Given the description of an element on the screen output the (x, y) to click on. 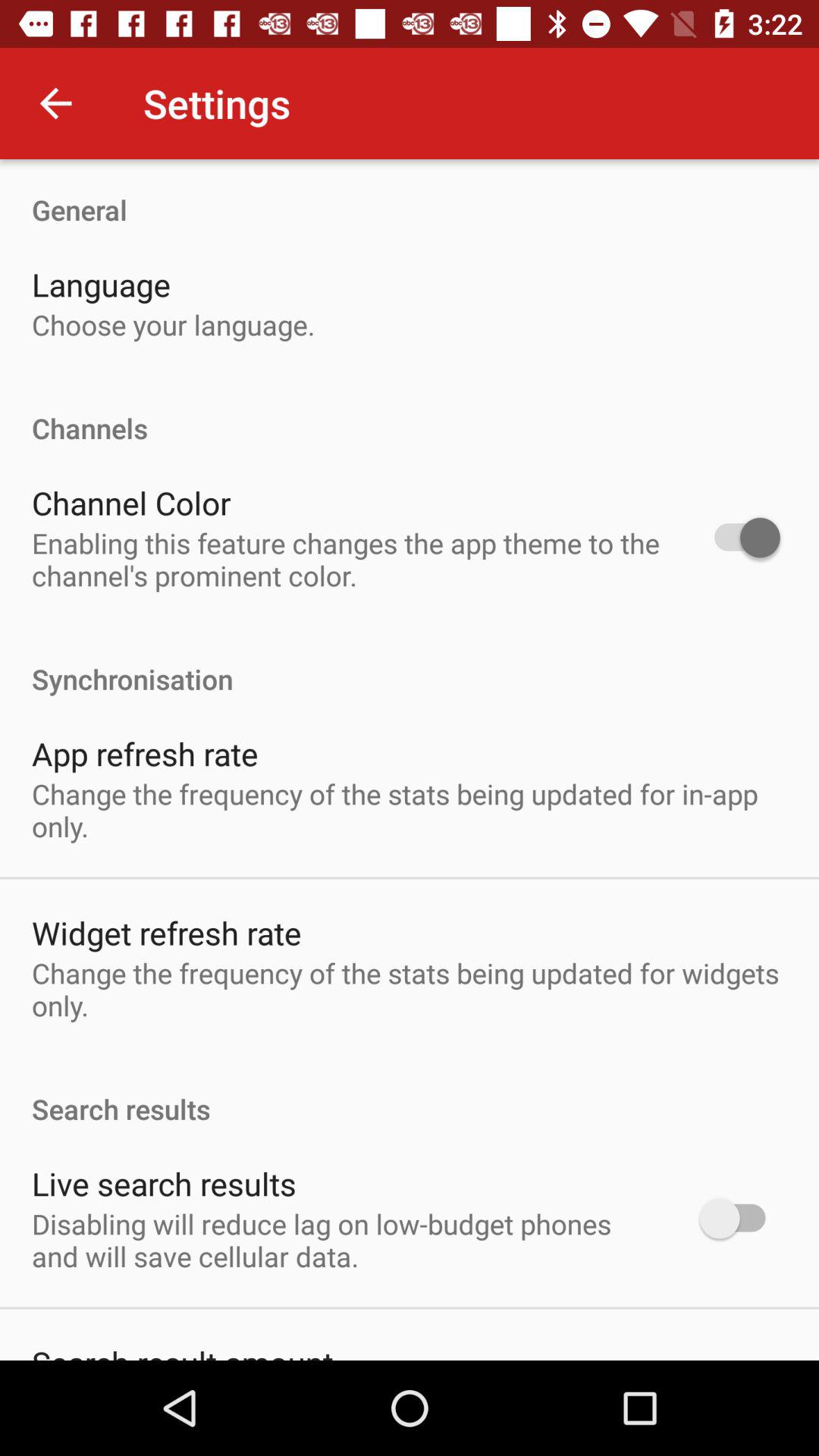
flip until disabling will reduce item (345, 1240)
